Given the description of an element on the screen output the (x, y) to click on. 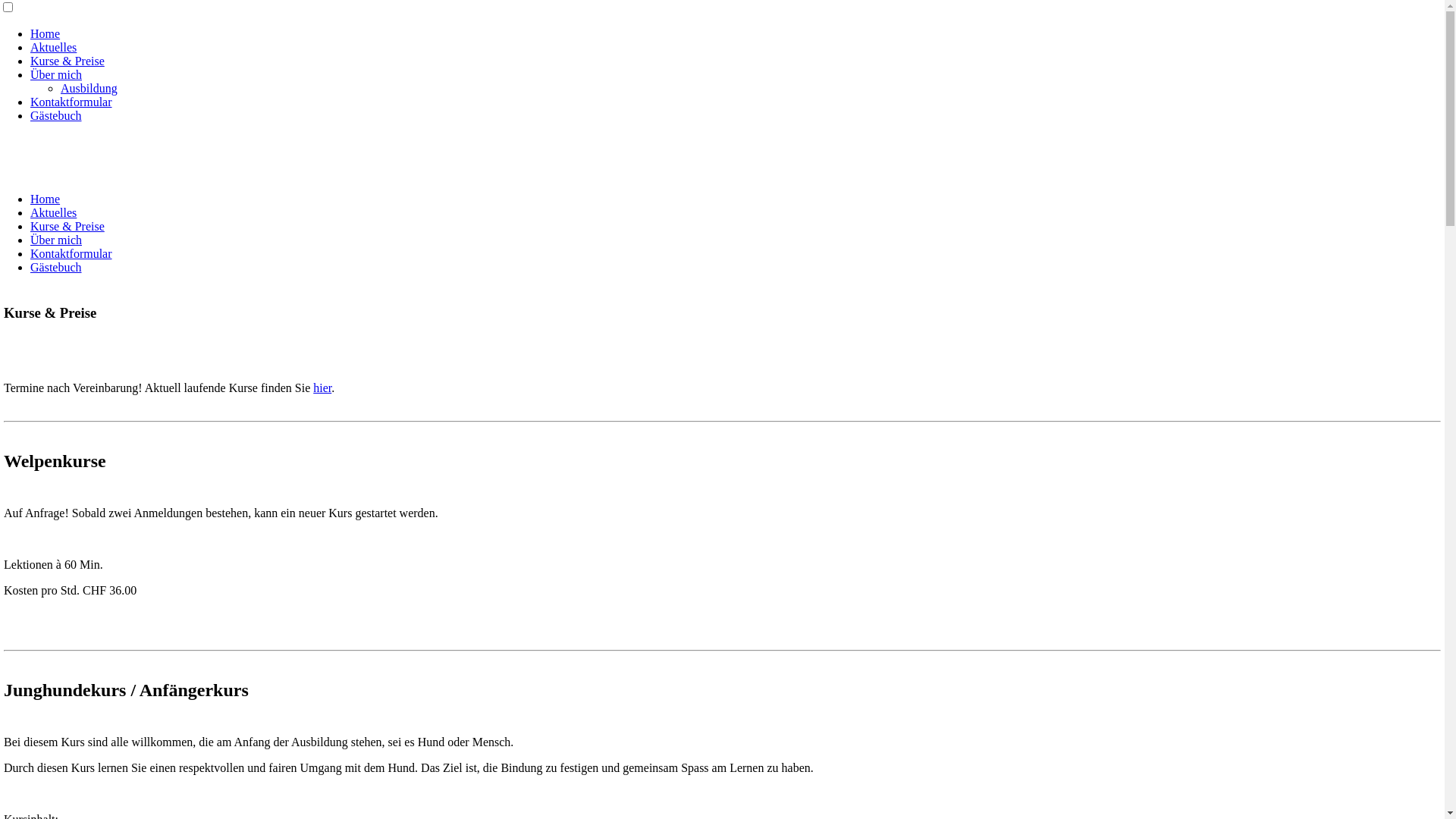
Kontaktformular Element type: text (71, 253)
hier Element type: text (322, 387)
Aktuelles Element type: text (53, 212)
Kurse & Preise Element type: text (67, 60)
Aktuelles Element type: text (53, 46)
Ausbildung Element type: text (88, 87)
Home Element type: text (44, 198)
Home Element type: text (44, 33)
Kurse & Preise Element type: text (67, 225)
Kontaktformular Element type: text (71, 101)
